Given the description of an element on the screen output the (x, y) to click on. 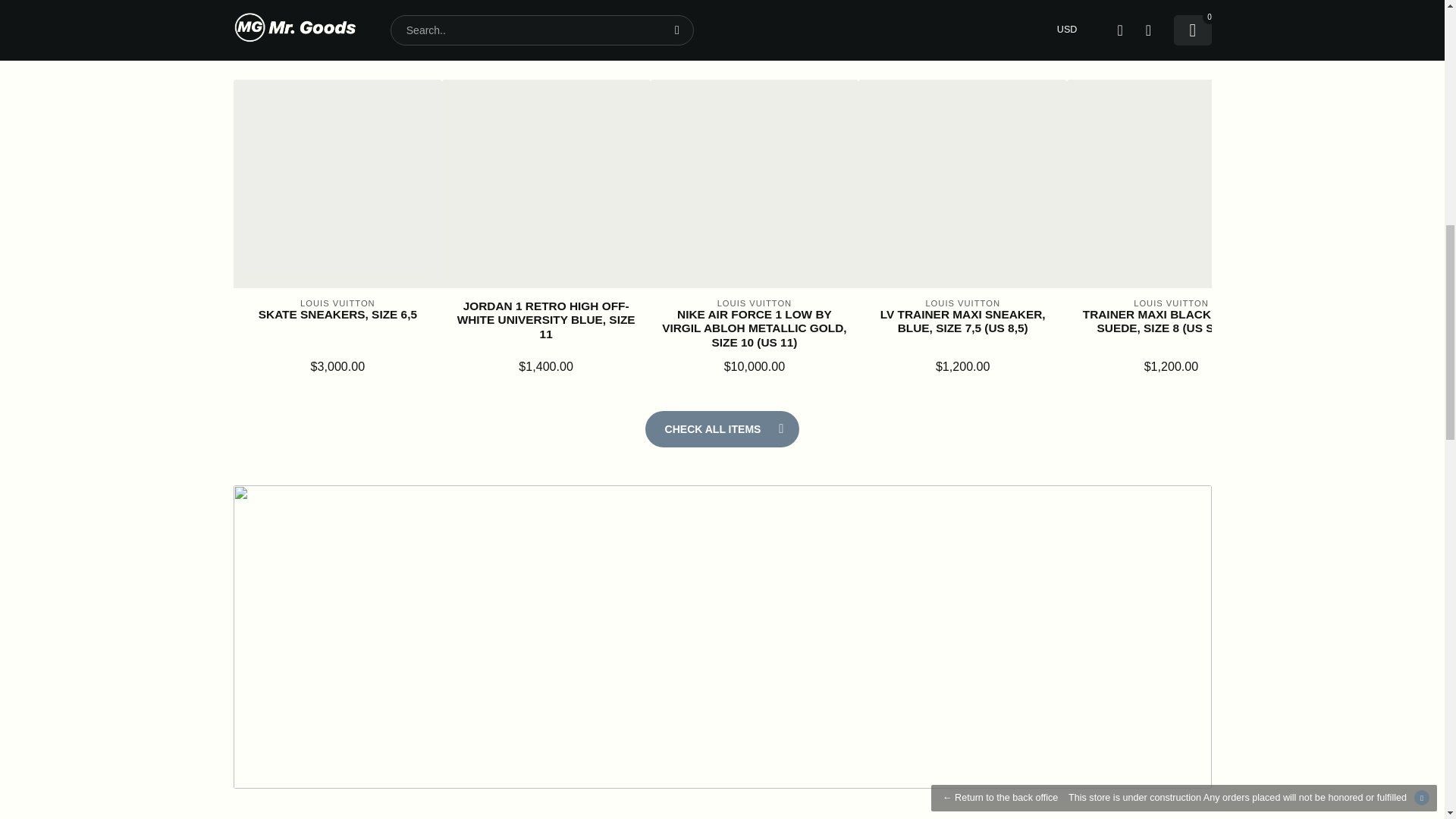
Louis Vuitton Skate Sneakers, size 6,5 (336, 314)
Jordan 1 Retro High Off-White University Blue, size 11 (545, 320)
